Given the description of an element on the screen output the (x, y) to click on. 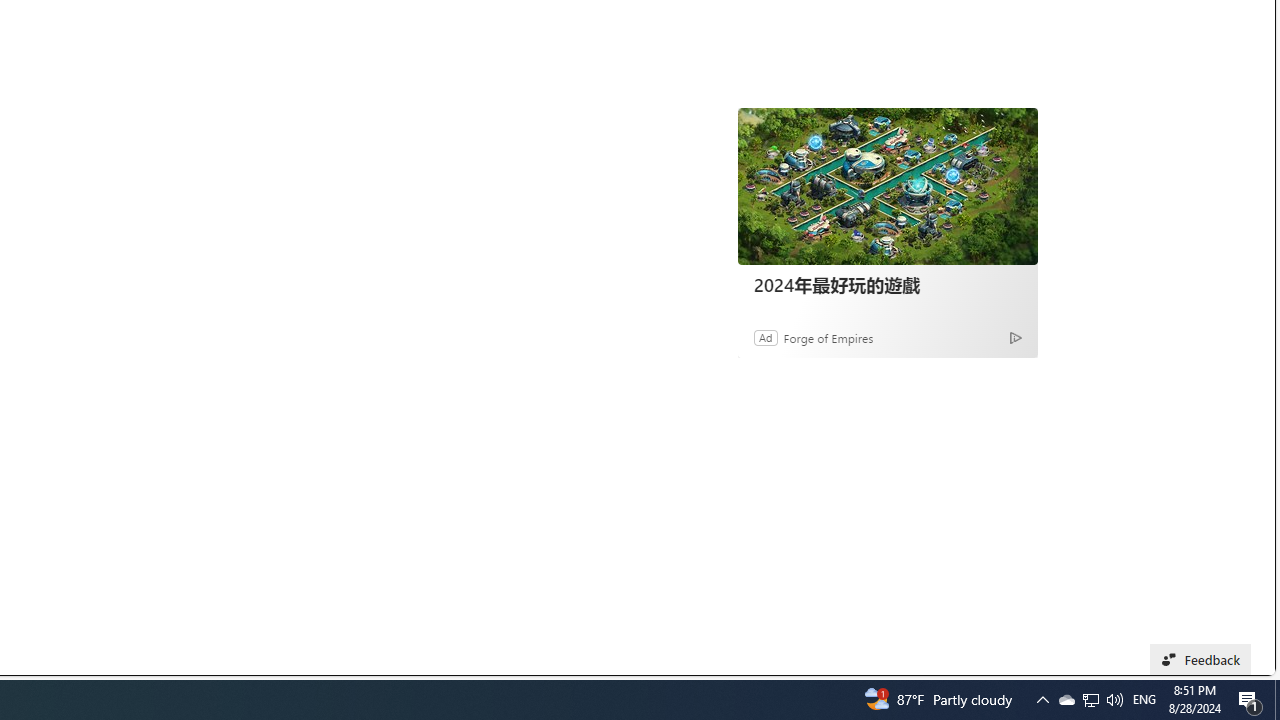
Forge of Empires (828, 337)
